Given the description of an element on the screen output the (x, y) to click on. 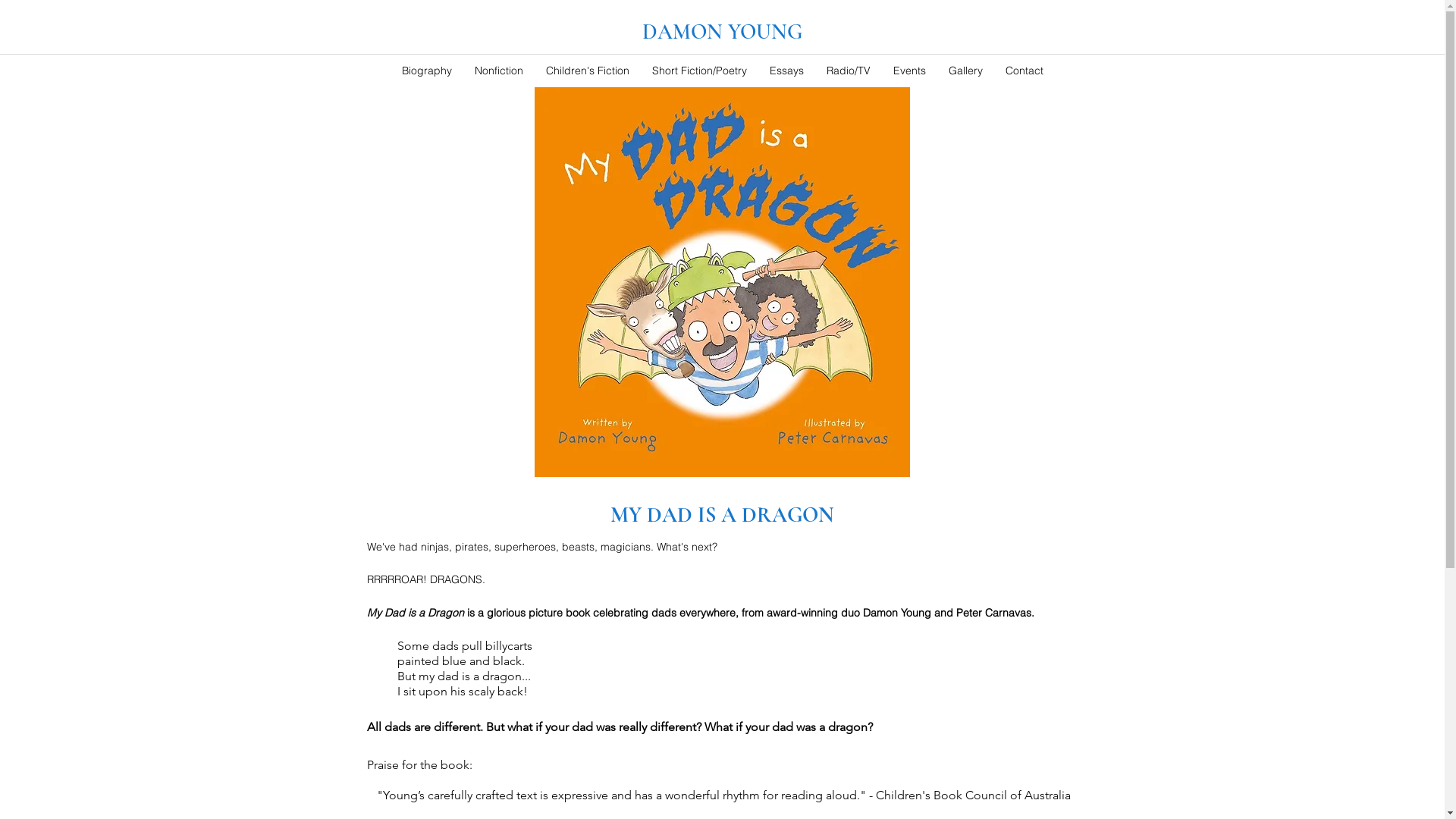
DAMON YOUNG Element type: text (722, 31)
Essays Element type: text (786, 70)
Events Element type: text (908, 70)
Gallery Element type: text (965, 70)
Biography Element type: text (425, 70)
Short Fiction/Poetry Element type: text (698, 70)
Contact Element type: text (1023, 70)
Radio/TV Element type: text (847, 70)
